Given the description of an element on the screen output the (x, y) to click on. 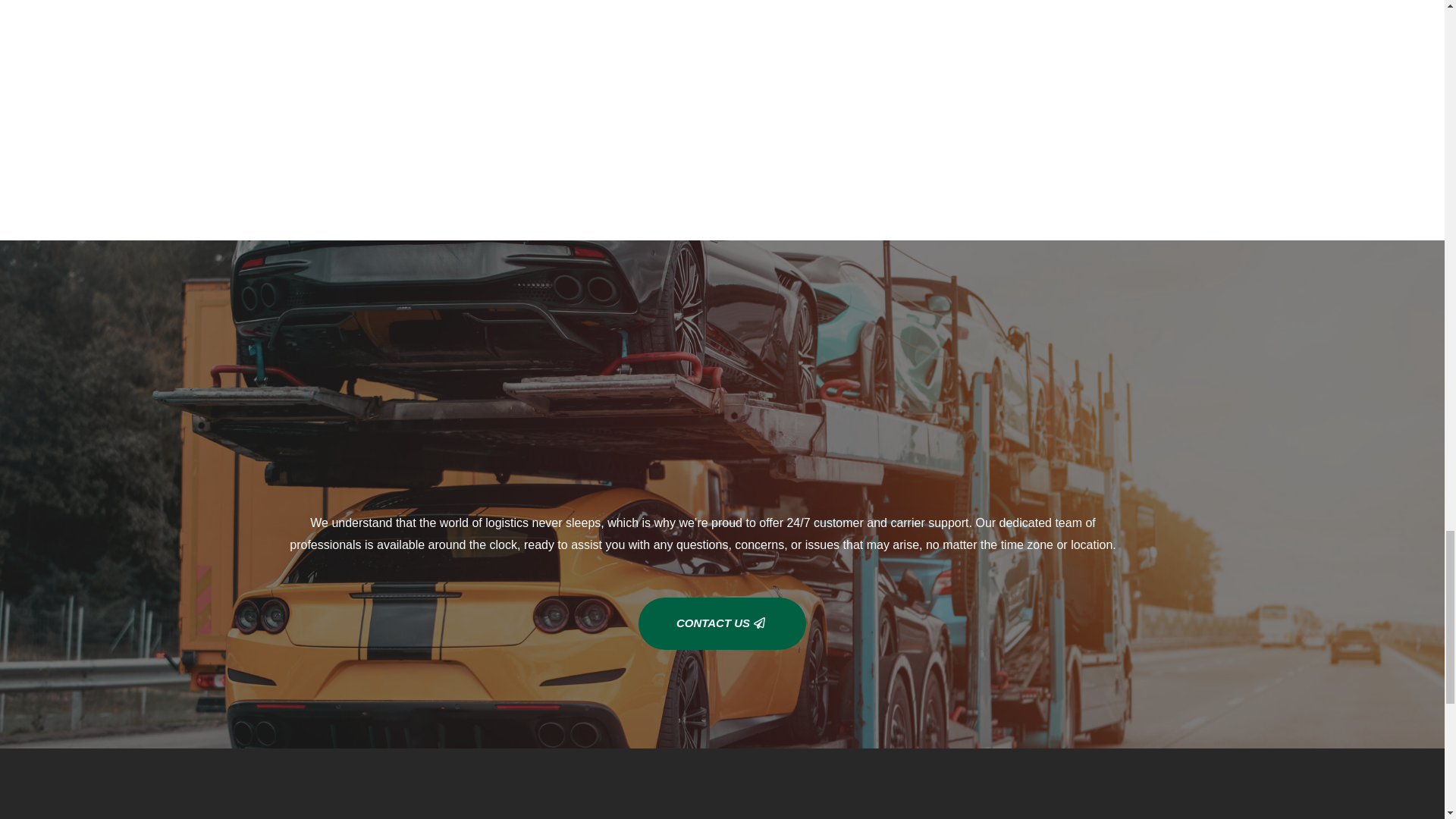
CONTACT US (722, 623)
